Given the description of an element on the screen output the (x, y) to click on. 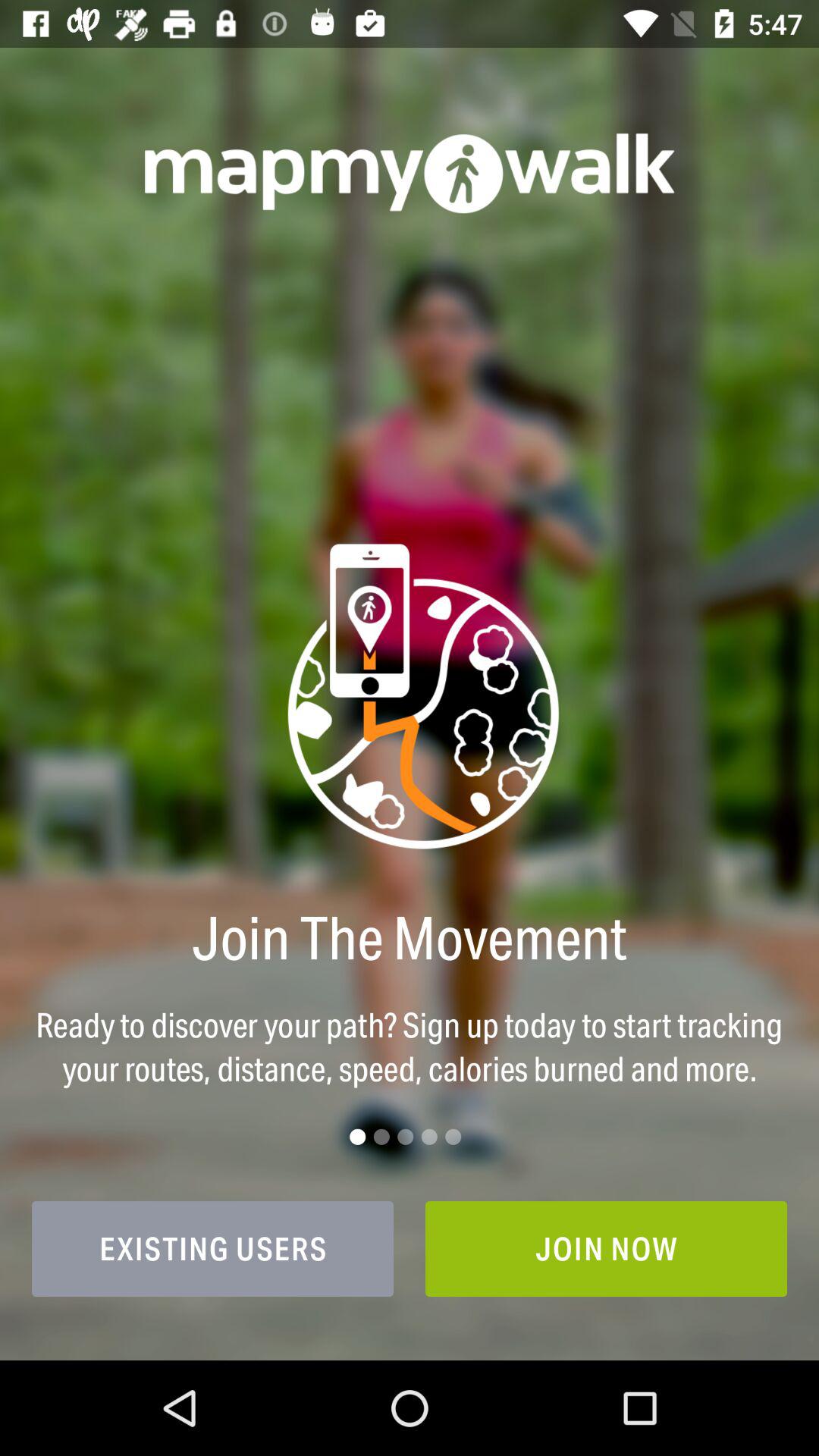
press the icon to the left of join now icon (212, 1248)
